Given the description of an element on the screen output the (x, y) to click on. 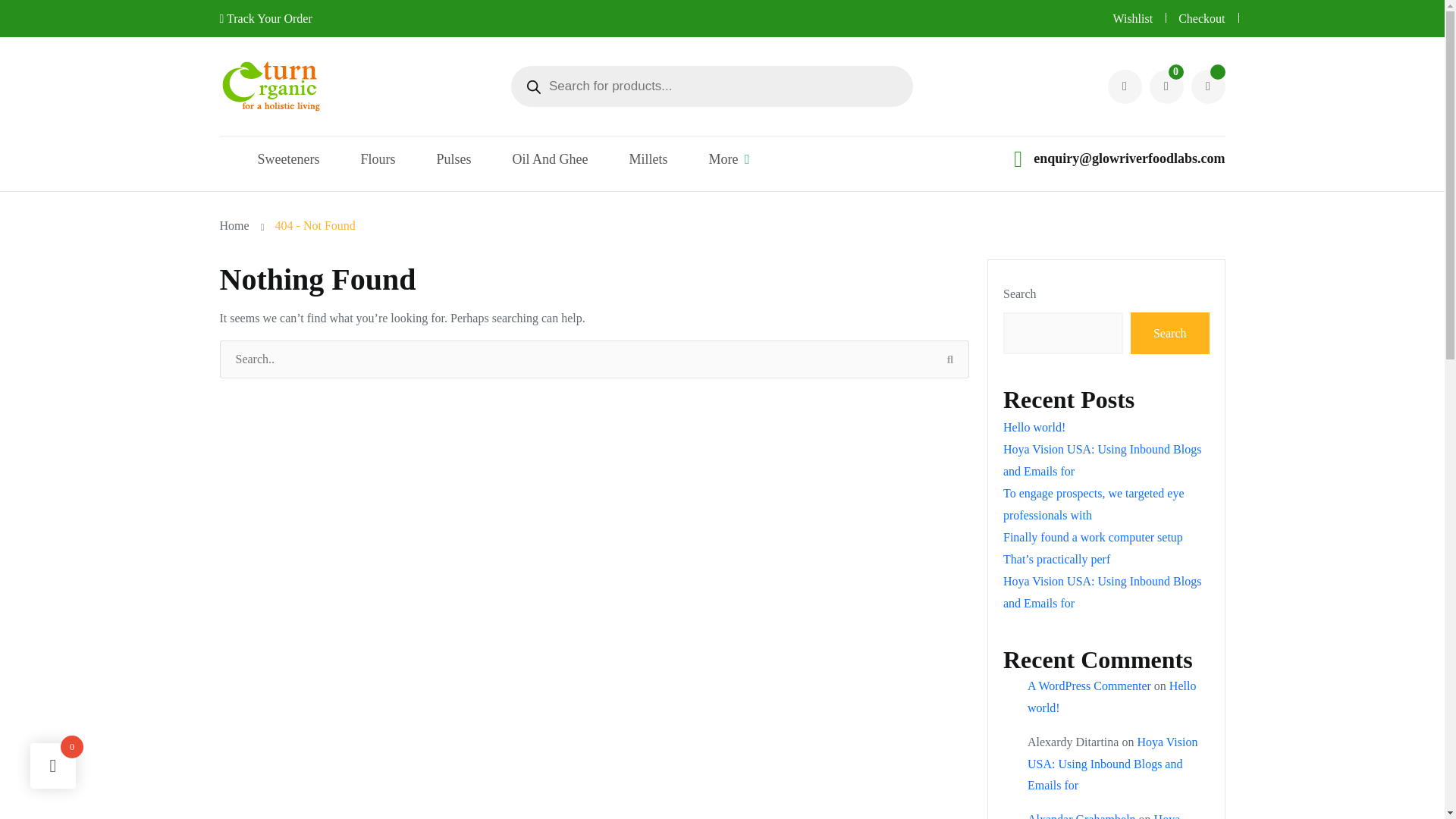
Sweeteners (288, 170)
Checkout (1200, 18)
Oil And Ghee (550, 170)
0 (1166, 85)
Wishlist (1132, 18)
Flours (376, 170)
Pulses (452, 170)
Millets (647, 170)
Track Your Order (266, 18)
